Given the description of an element on the screen output the (x, y) to click on. 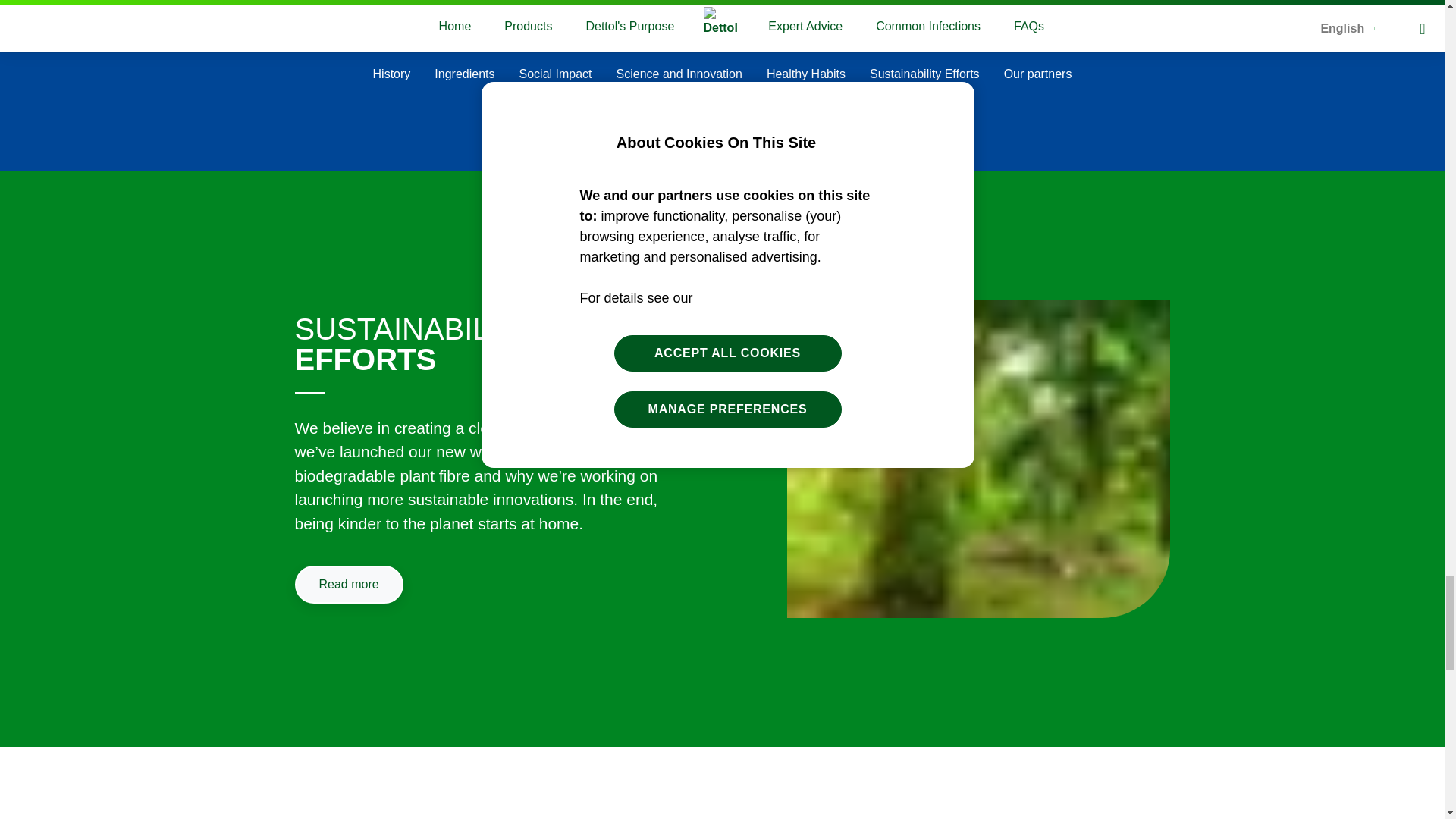
Read more (833, 7)
Read more (348, 584)
